Given the description of an element on the screen output the (x, y) to click on. 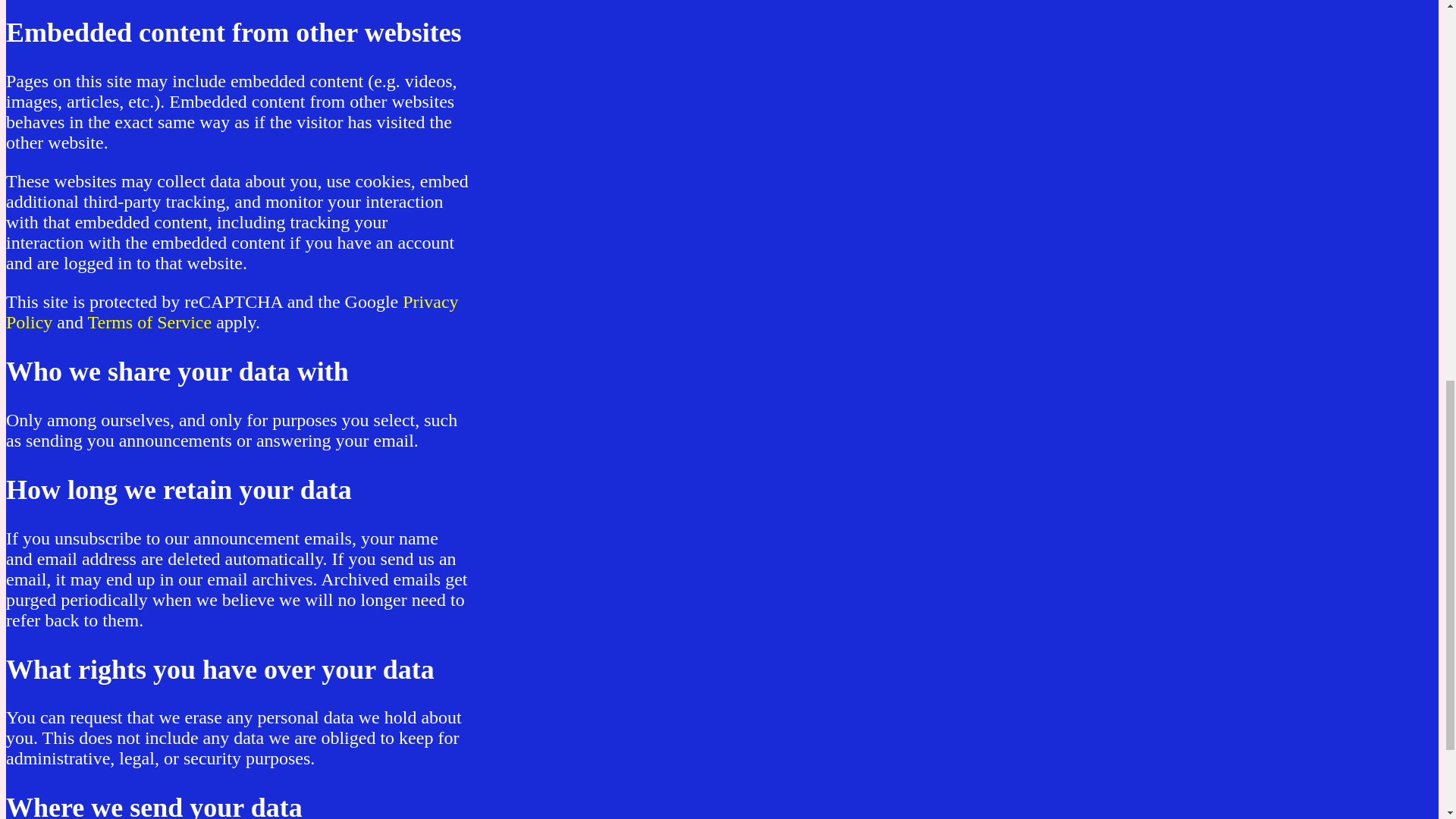
Terms of Service (149, 322)
Privacy Policy (231, 311)
